Given the description of an element on the screen output the (x, y) to click on. 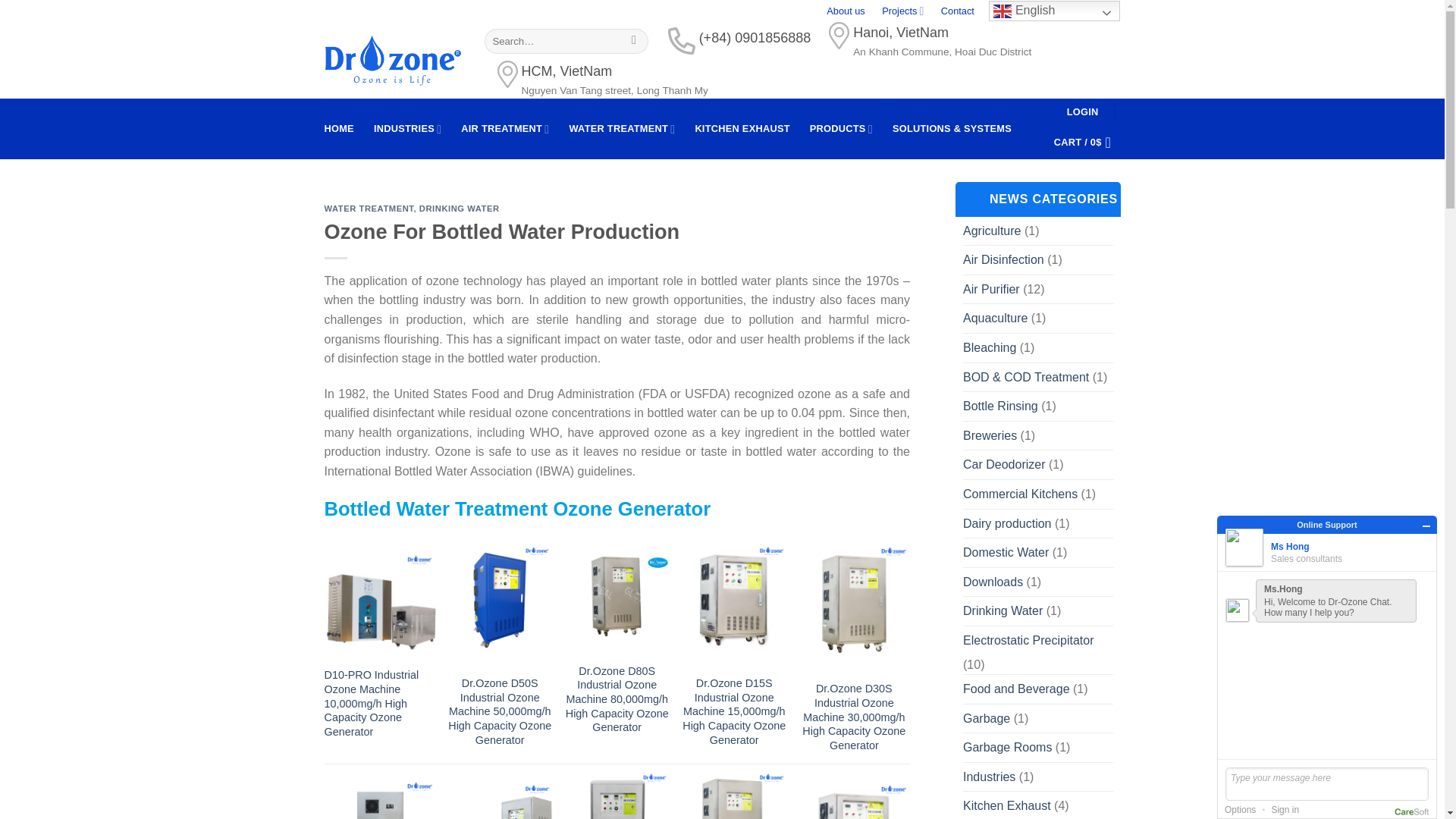
Search (633, 41)
Projects (902, 11)
Contact (957, 11)
English (1053, 10)
HOME (338, 128)
INDUSTRIES (407, 129)
About us (845, 11)
